Given the description of an element on the screen output the (x, y) to click on. 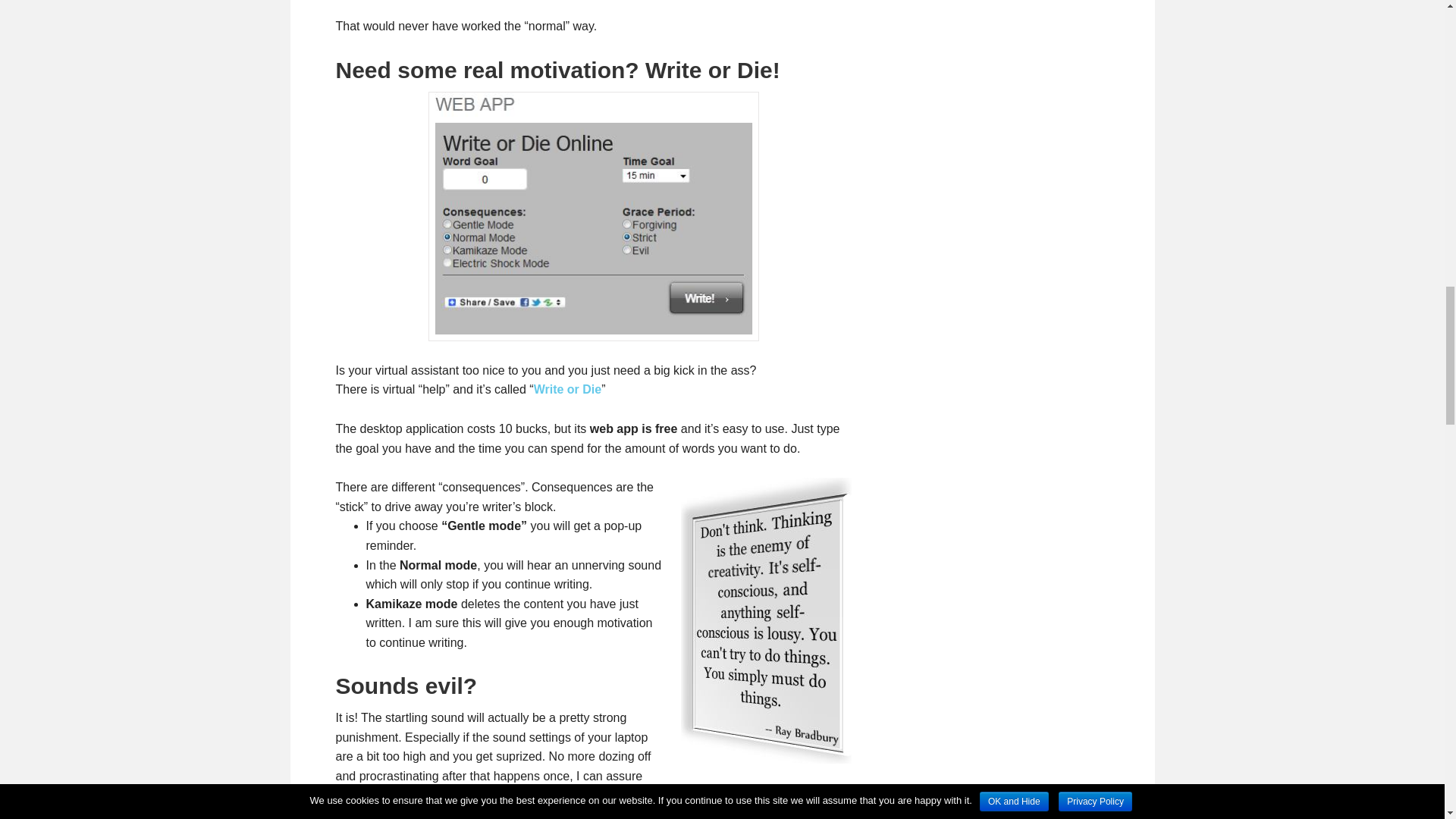
Write or Die Web App (593, 215)
Famous saying by Ray Bradbury (766, 620)
Write or Die (568, 389)
